Given the description of an element on the screen output the (x, y) to click on. 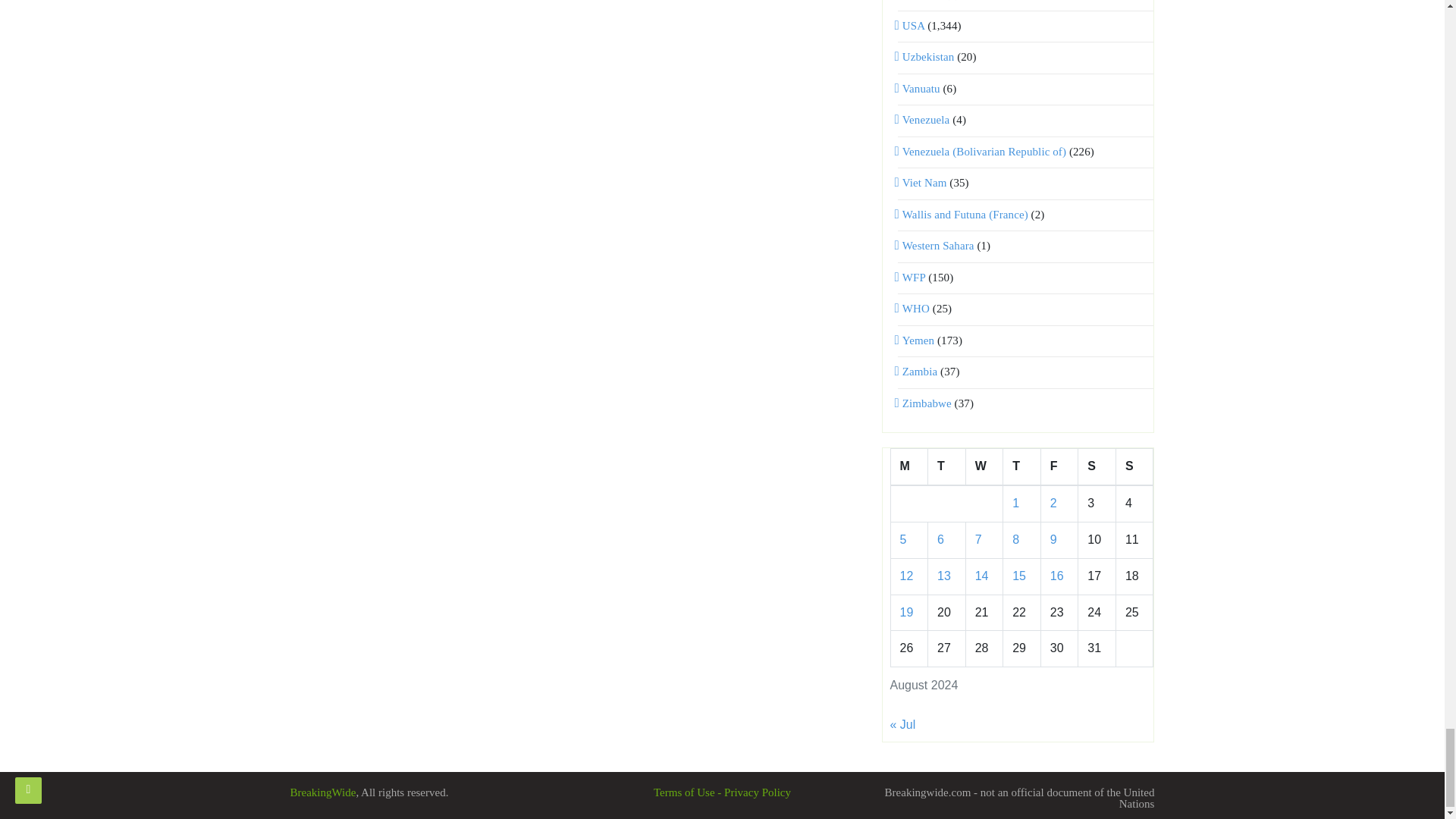
Monday (908, 466)
Tuesday (947, 466)
Thursday (1022, 466)
Friday (1059, 466)
Sunday (1134, 466)
Wednesday (984, 466)
Saturday (1097, 466)
